Given the description of an element on the screen output the (x, y) to click on. 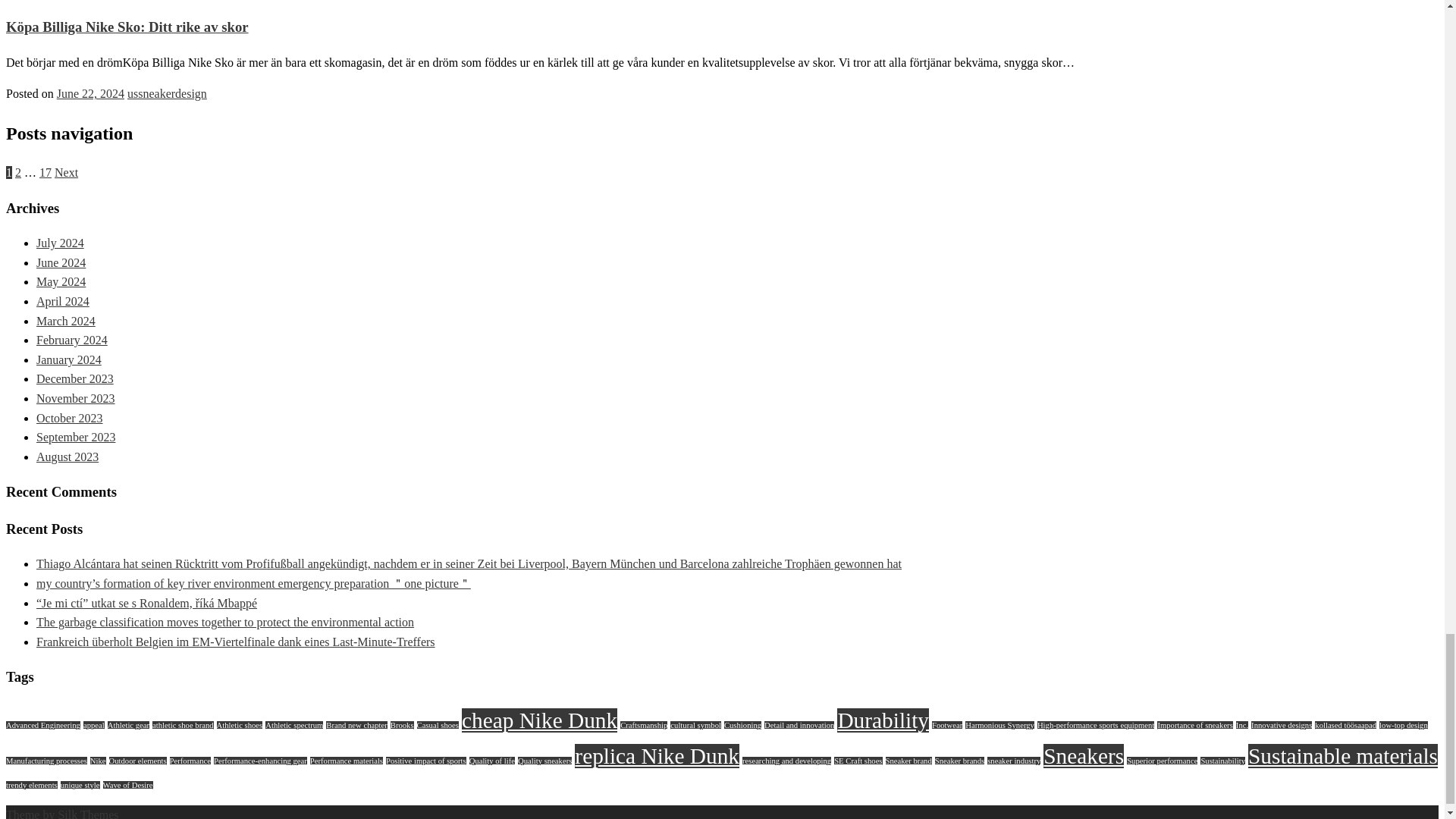
ussneakerdesign (167, 92)
